Given the description of an element on the screen output the (x, y) to click on. 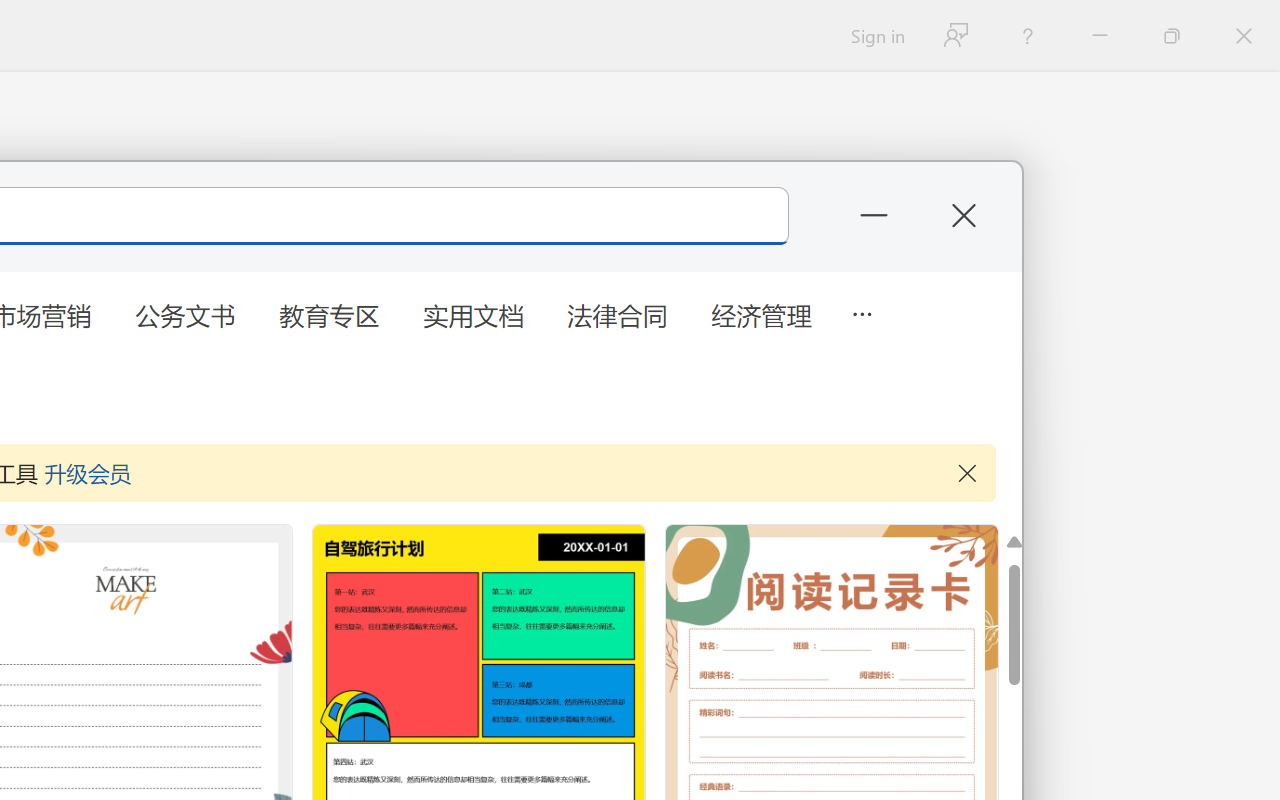
5 more tabs (861, 312)
Sign in (875, 35)
